Given the description of an element on the screen output the (x, y) to click on. 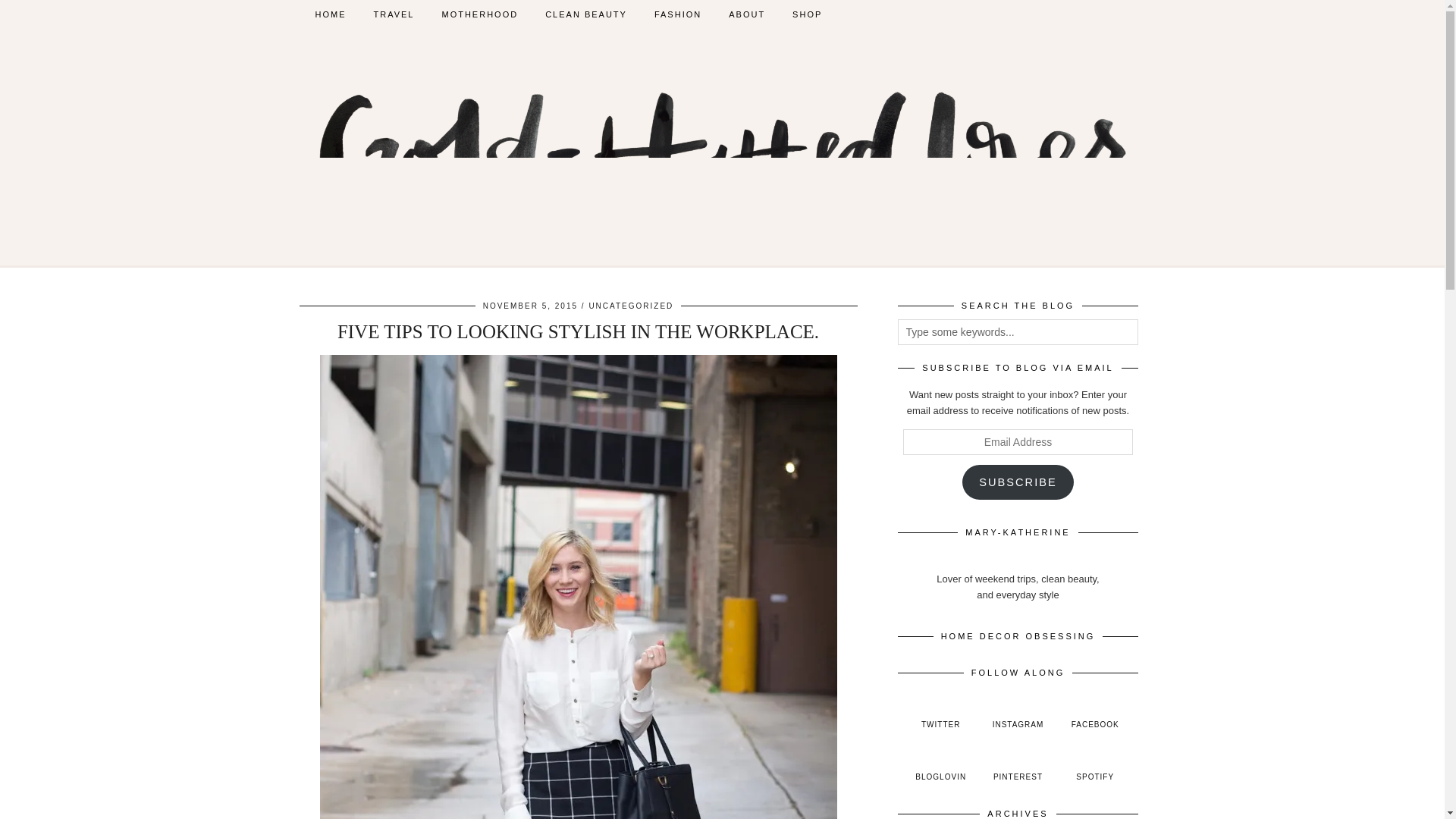
MOTHERHOOD (479, 14)
ABOUT (746, 14)
HOME (330, 14)
CLEAN BEAUTY (585, 14)
TRAVEL (393, 14)
SHOP (806, 14)
FASHION (677, 14)
